Given the description of an element on the screen output the (x, y) to click on. 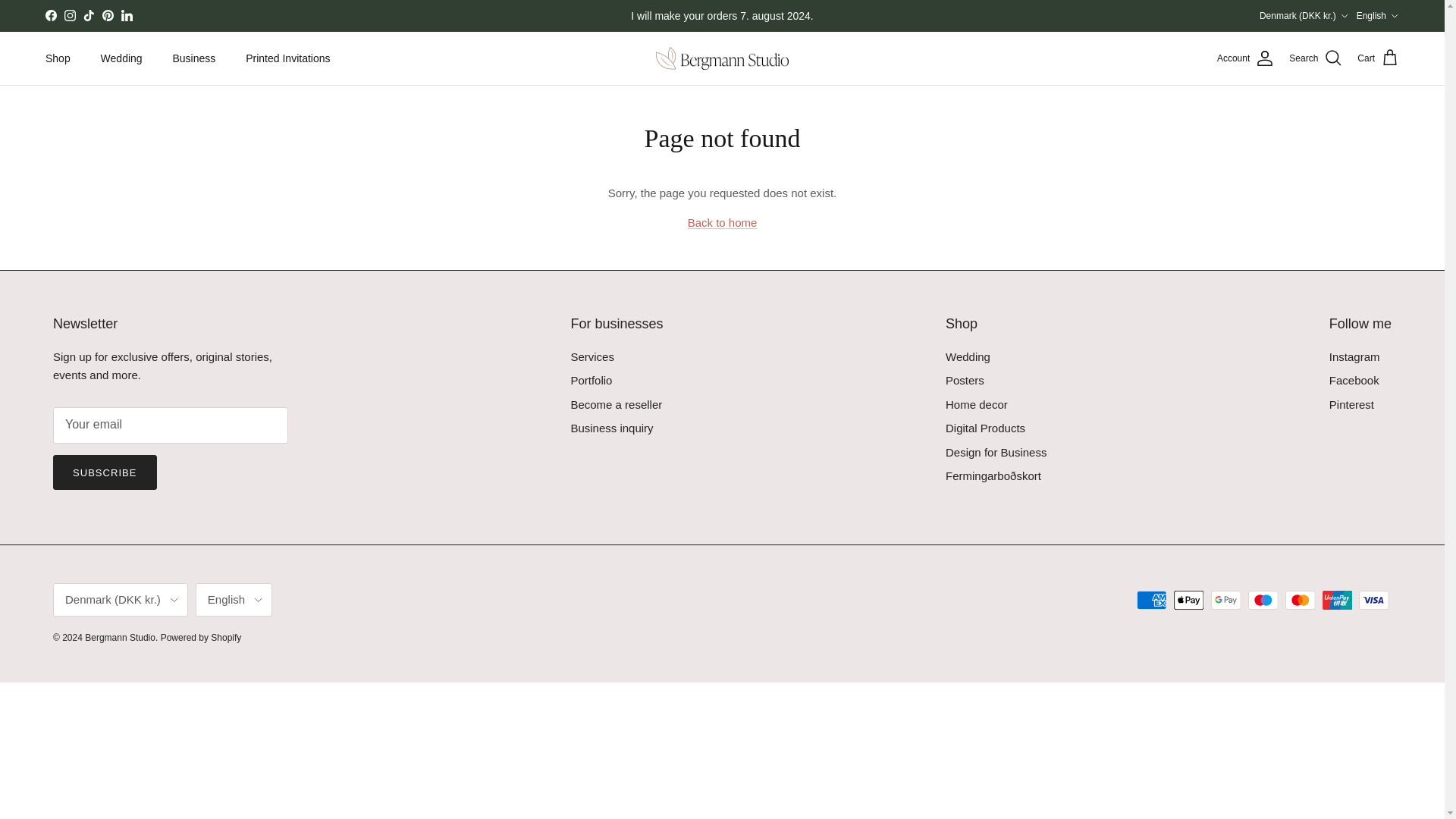
LinkedIn (126, 15)
Bergmann Studio on Pinterest (107, 15)
Business (194, 58)
Wedding (121, 58)
Bergmann Studio on Instagram (69, 15)
Mastercard (1299, 599)
Google Pay (1225, 599)
Bergmann Studio on TikTok (88, 15)
Maestro (1262, 599)
Cart (1377, 57)
Instagram (69, 15)
Union Pay (1337, 599)
Pinterest (107, 15)
Bergmann Studio on Facebook (50, 15)
English (1377, 15)
